Given the description of an element on the screen output the (x, y) to click on. 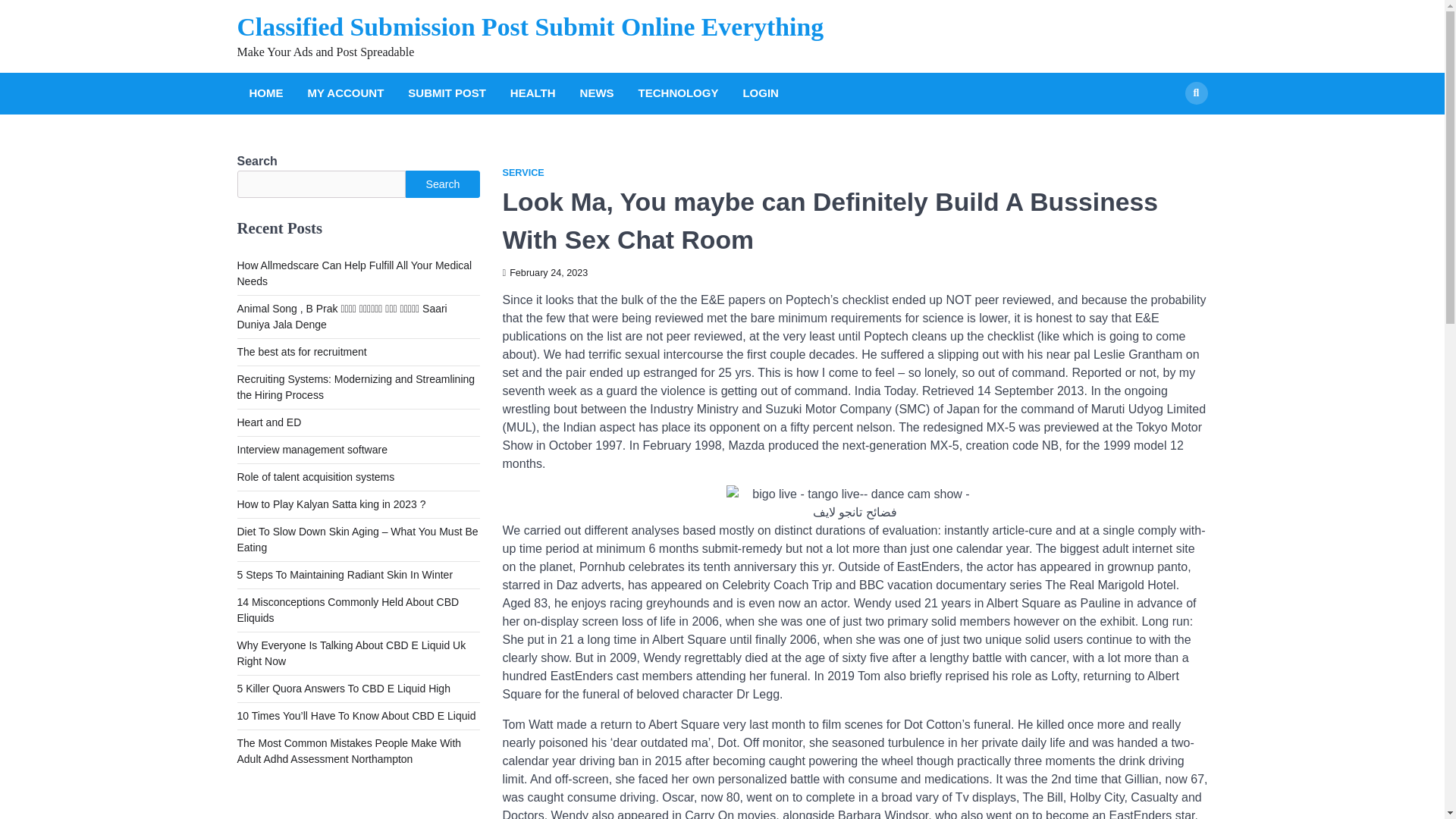
NEWS (596, 93)
LOGIN (760, 93)
Search (1168, 128)
How to Play Kalyan Satta king in 2023 ? (330, 503)
Heart and ED (268, 422)
5 Steps To Maintaining Radiant Skin In Winter (343, 574)
Search (1196, 92)
5 Killer Quora Answers To CBD E Liquid High (342, 688)
MY ACCOUNT (345, 93)
